Given the description of an element on the screen output the (x, y) to click on. 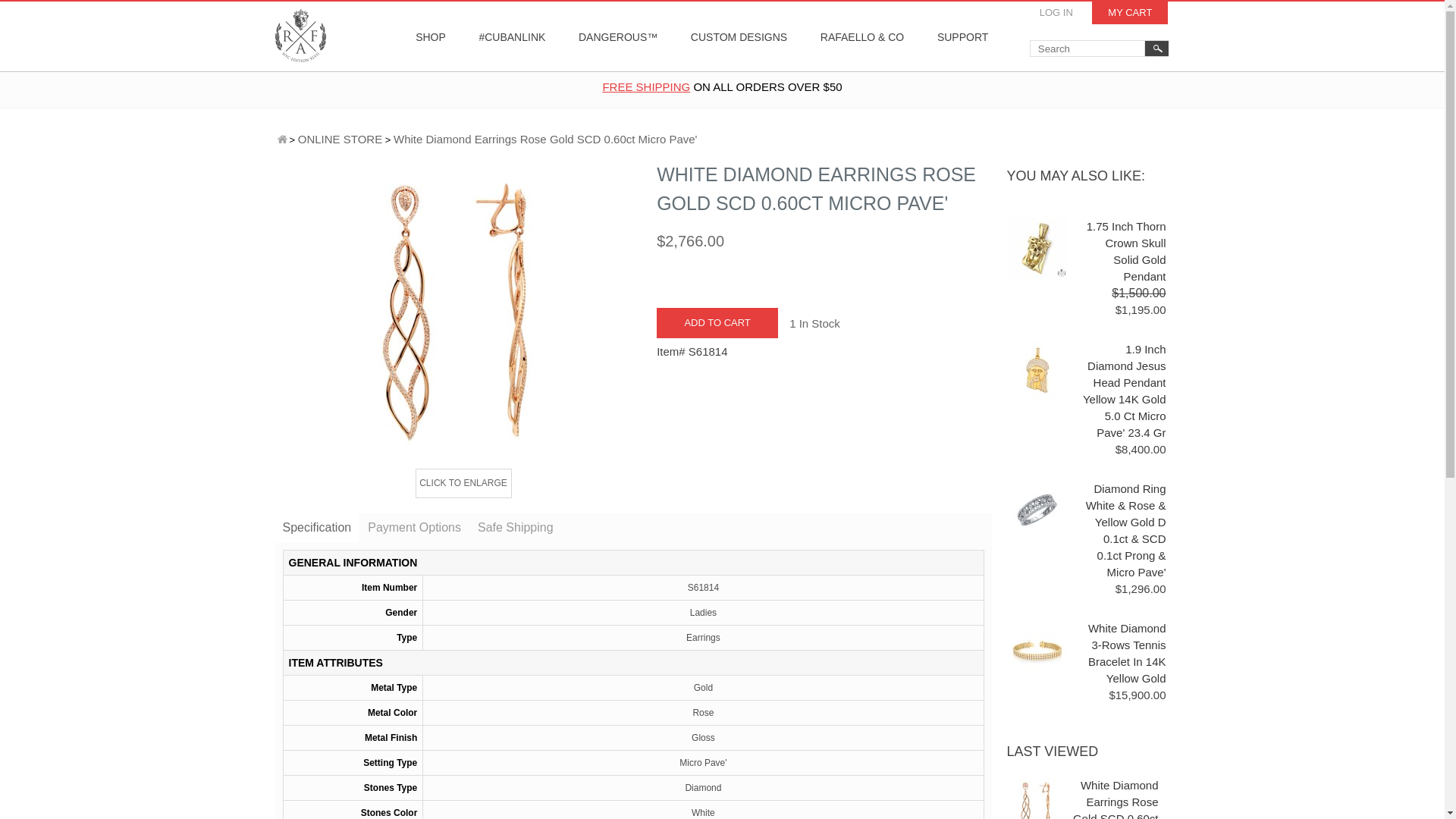
LOG IN (1056, 12)
CUSTOM DESIGNS (738, 36)
MY CART (1129, 12)
SUPPORT (962, 36)
White Diamond Earrings Rose Gold SCD 0.60ct Micro Pave'  (464, 311)
